Given the description of an element on the screen output the (x, y) to click on. 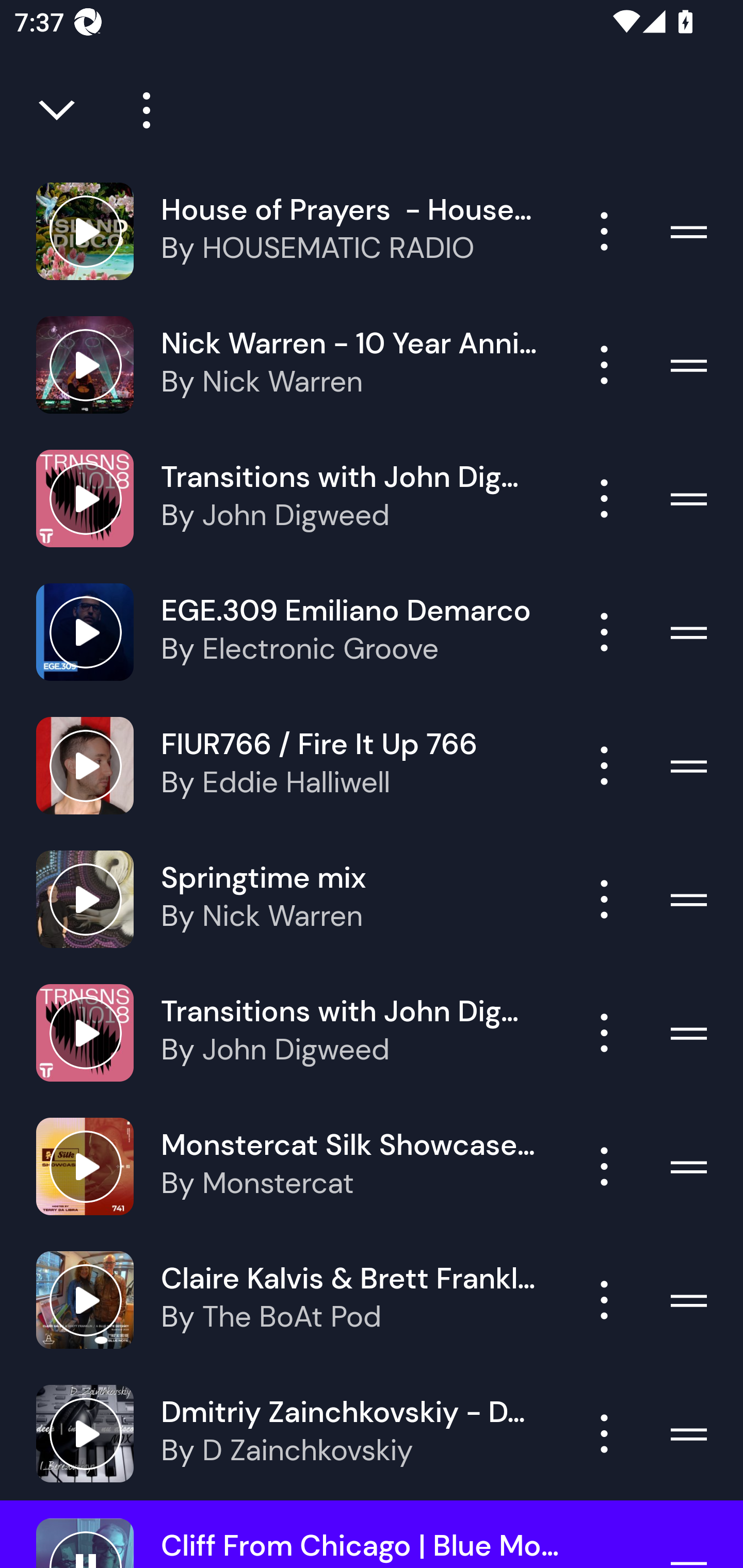
Close full player (58, 110)
Queue more options button (139, 110)
Show options button (604, 230)
Show options button (604, 364)
Show options button (604, 498)
Show options button (604, 631)
Show options button (604, 764)
Show options button (604, 898)
Show options button (604, 1032)
Show options button (604, 1166)
Show options button (604, 1299)
Show options button (604, 1432)
